Given the description of an element on the screen output the (x, y) to click on. 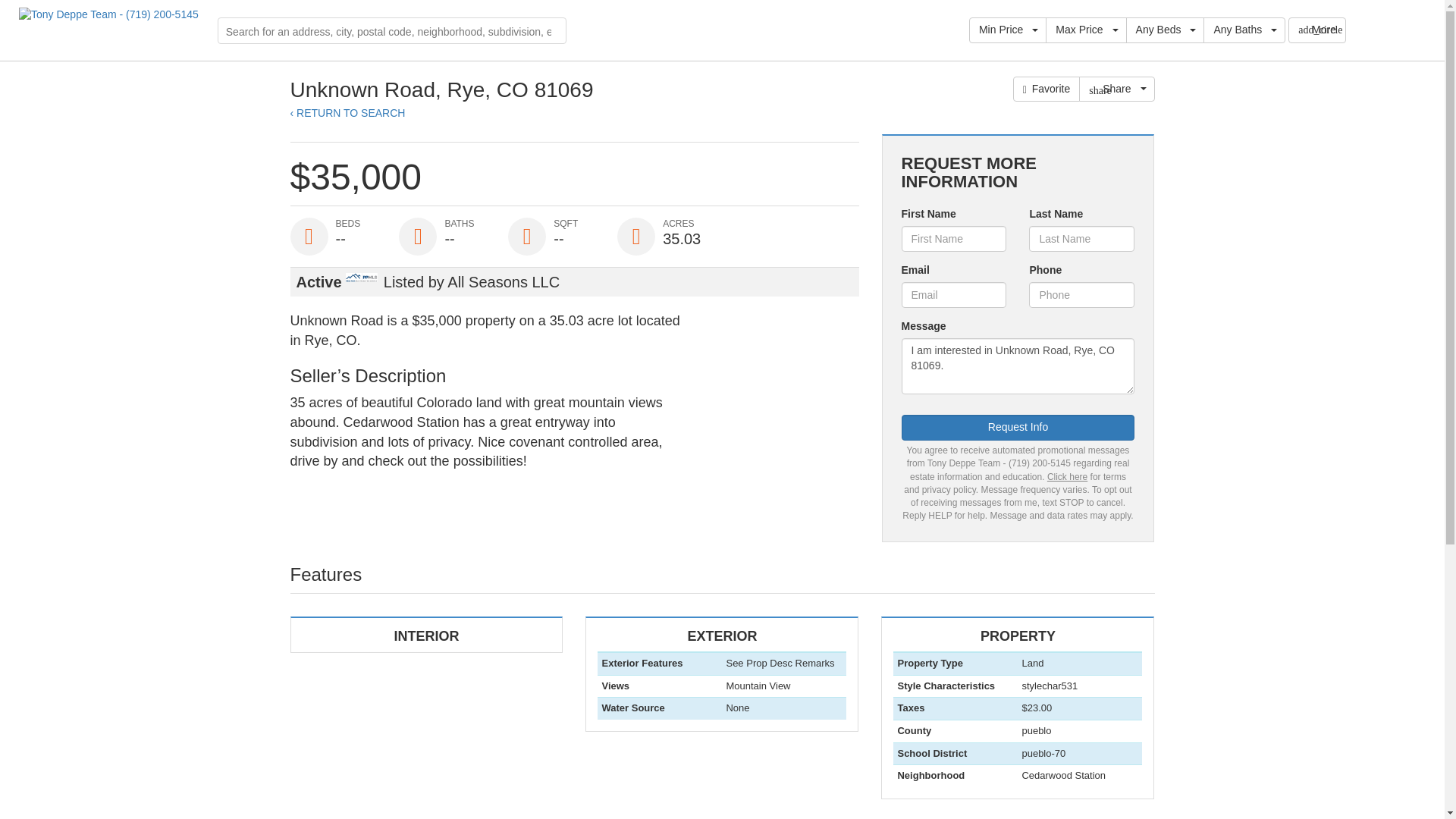
INTERIOR (425, 634)
Min Price (1007, 30)
